Given the description of an element on the screen output the (x, y) to click on. 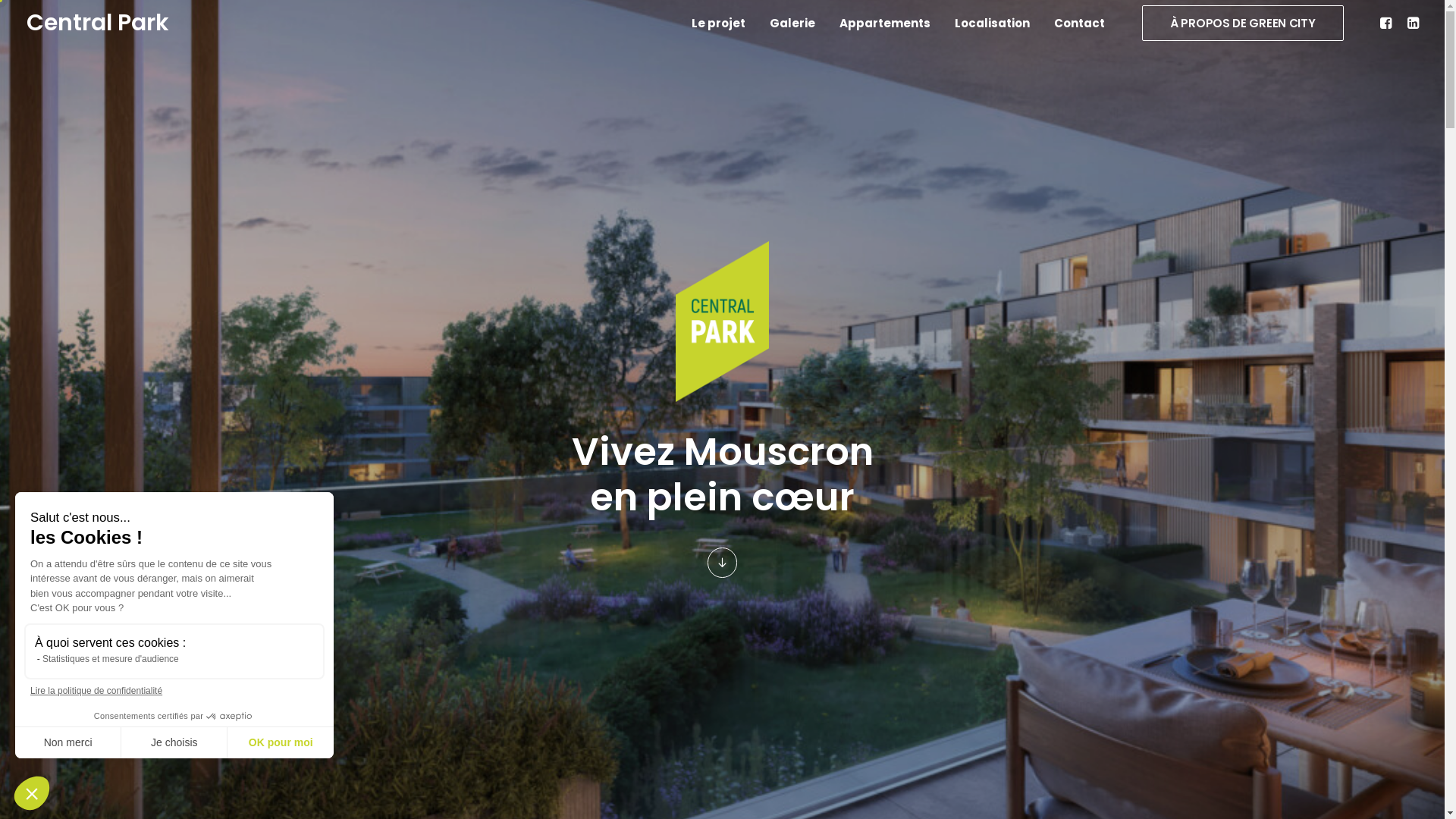
Localisation Element type: text (992, 22)
Le projet Element type: text (718, 22)
Central Park Element type: text (96, 22)
Galerie Element type: text (792, 22)
Contact Element type: text (1073, 22)
Appartements Element type: text (884, 22)
